Given the description of an element on the screen output the (x, y) to click on. 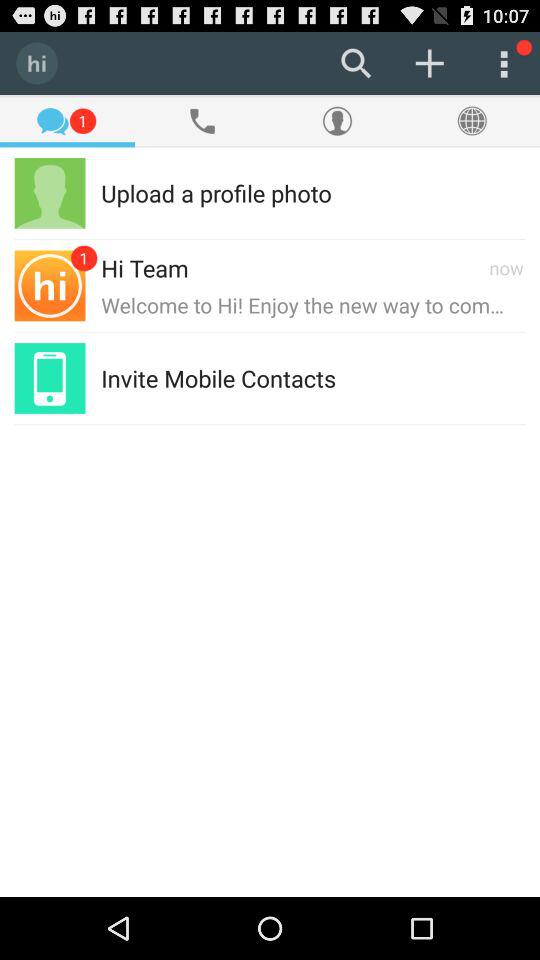
turn on the item at the center (218, 378)
